Given the description of an element on the screen output the (x, y) to click on. 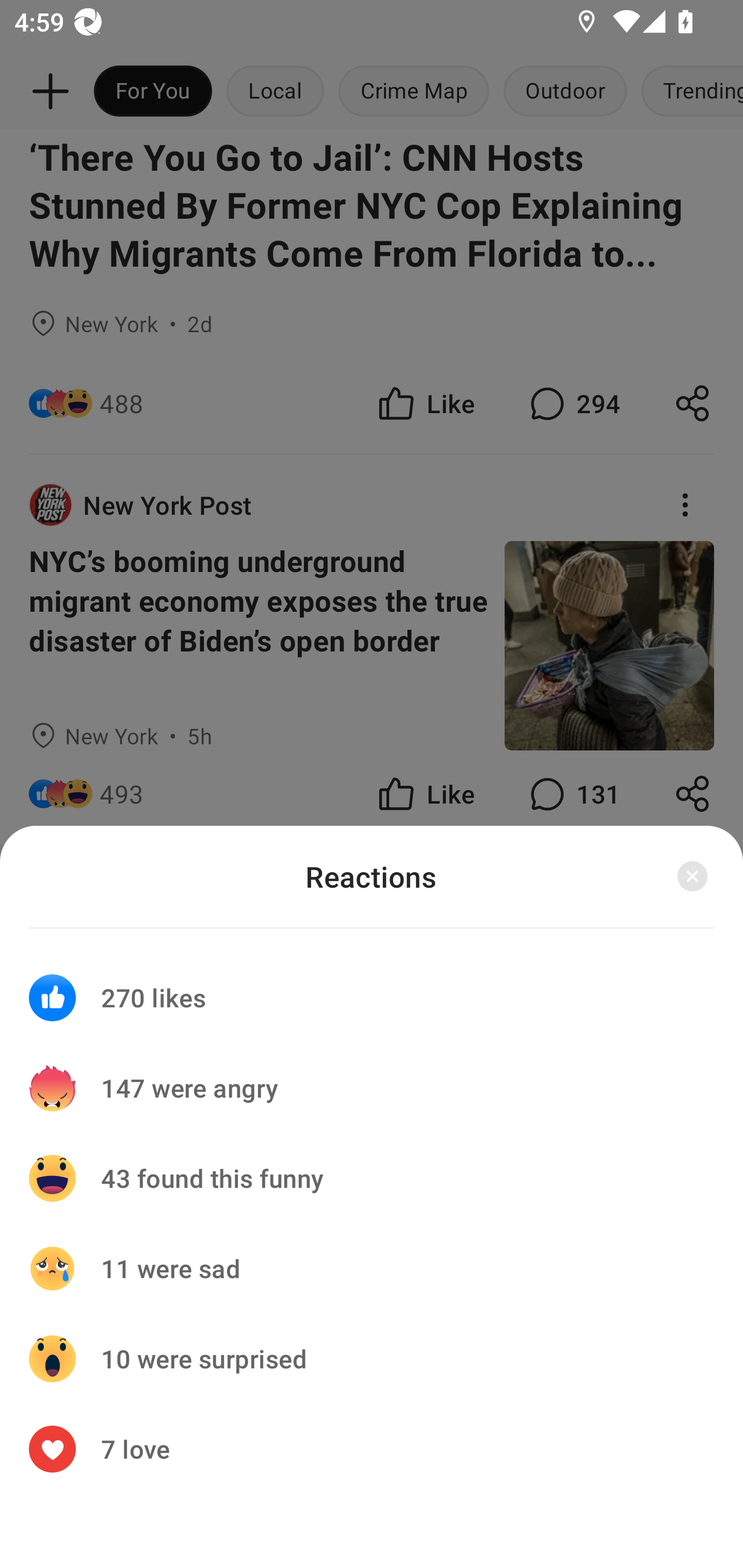
270 likes (371, 985)
147 were angry (371, 1087)
43 found this funny (371, 1178)
11 were sad (371, 1268)
10 were surprised (371, 1358)
7 love (371, 1448)
